Given the description of an element on the screen output the (x, y) to click on. 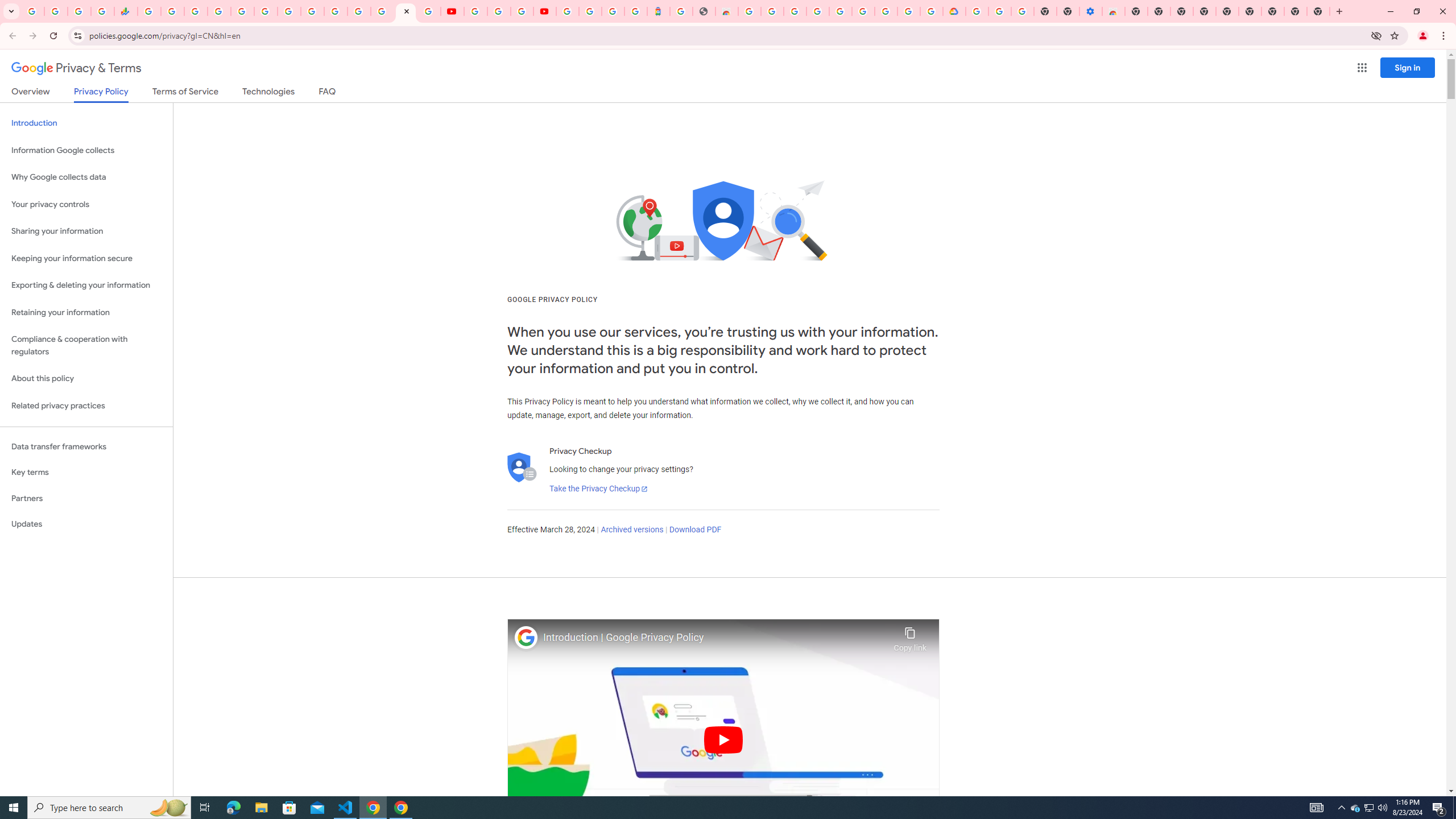
Sign in - Google Accounts (590, 11)
New Tab (1318, 11)
Ad Settings (817, 11)
About this policy (86, 379)
Play (723, 739)
Turn cookies on or off - Computer - Google Account Help (1022, 11)
